Given the description of an element on the screen output the (x, y) to click on. 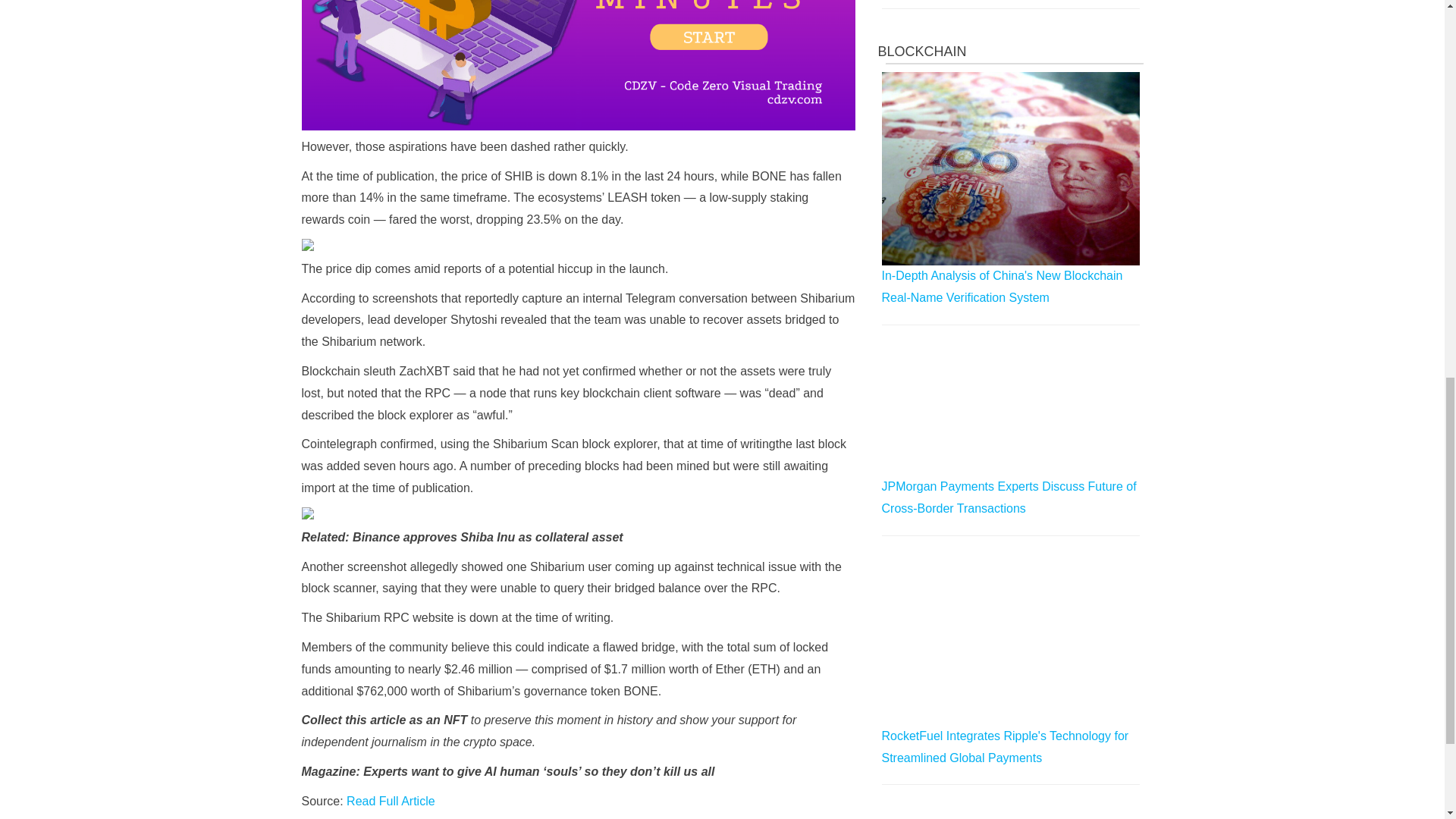
Read Full Article (390, 800)
